Given the description of an element on the screen output the (x, y) to click on. 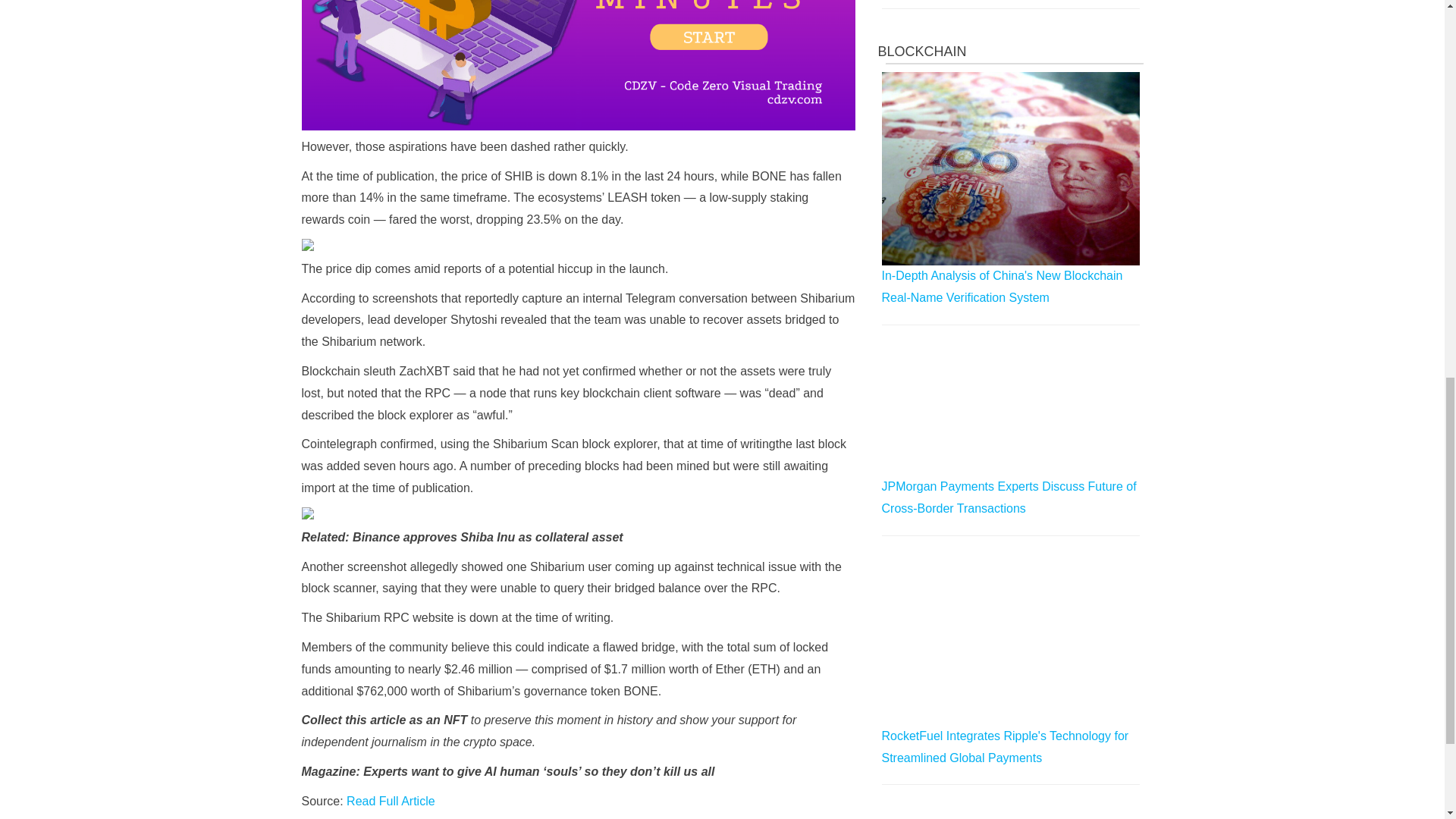
Read Full Article (390, 800)
